Given the description of an element on the screen output the (x, y) to click on. 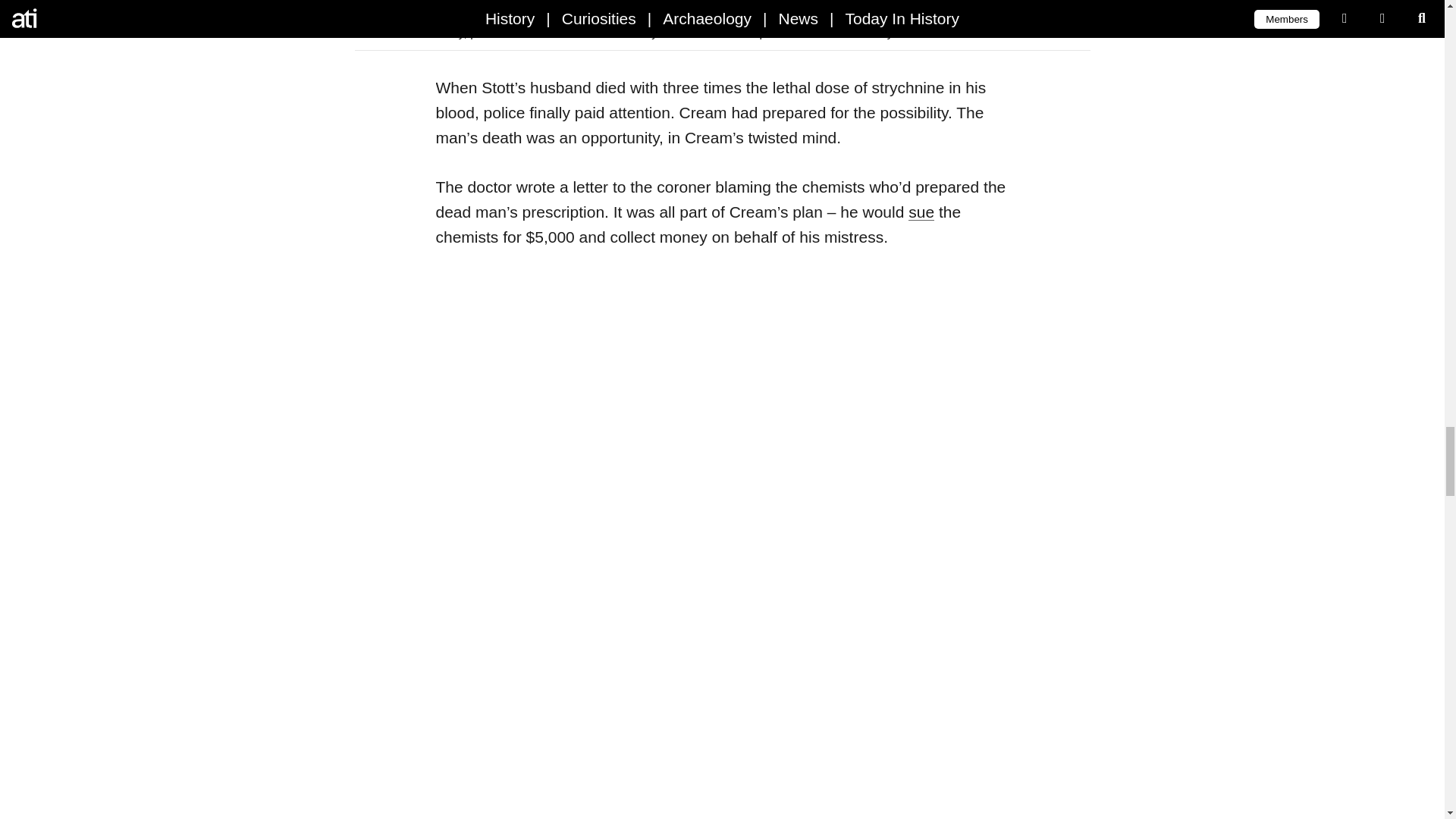
sue (921, 211)
